Given the description of an element on the screen output the (x, y) to click on. 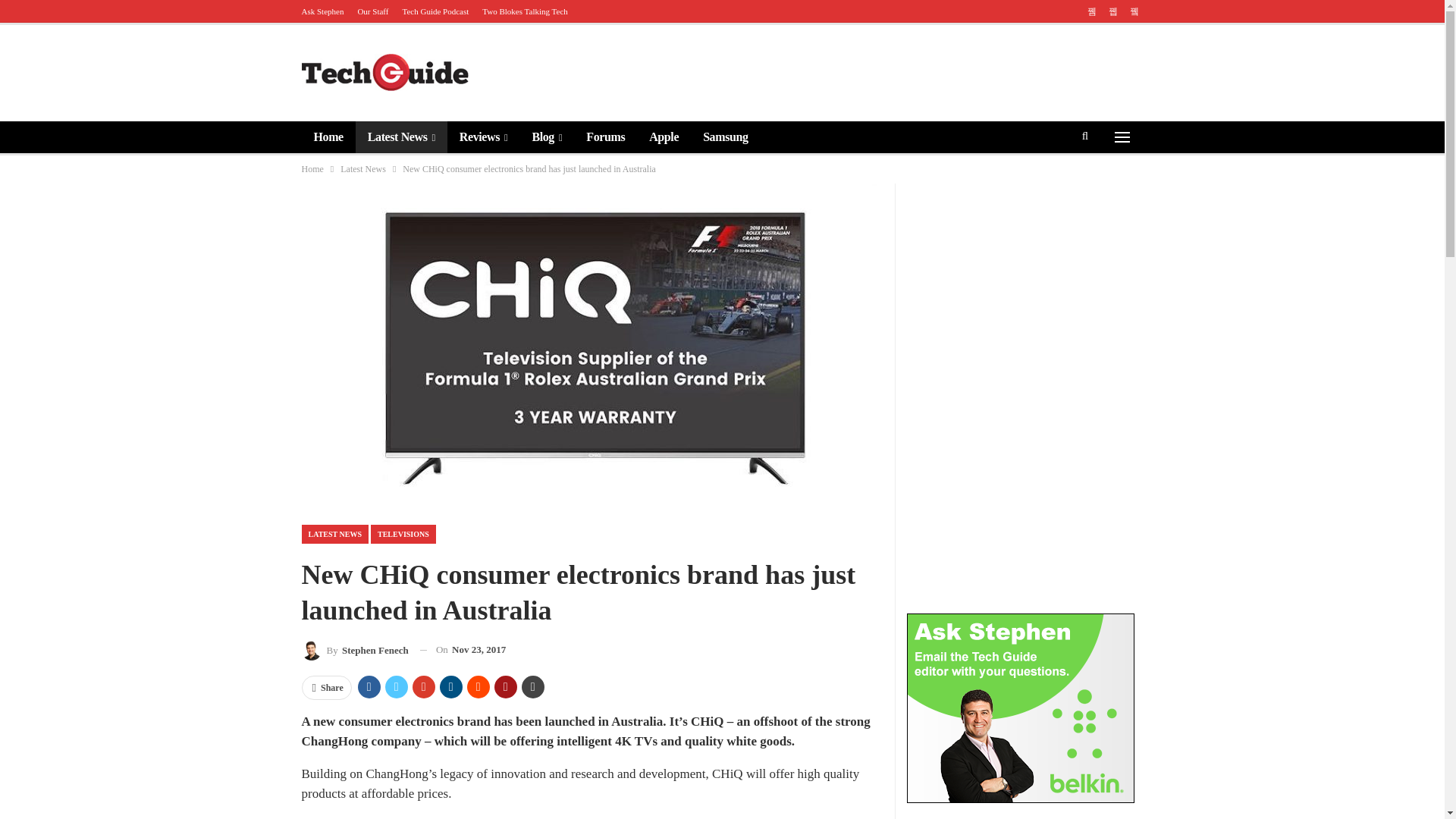
Browse Author Articles (355, 649)
3rd party ad content (865, 71)
